Given the description of an element on the screen output the (x, y) to click on. 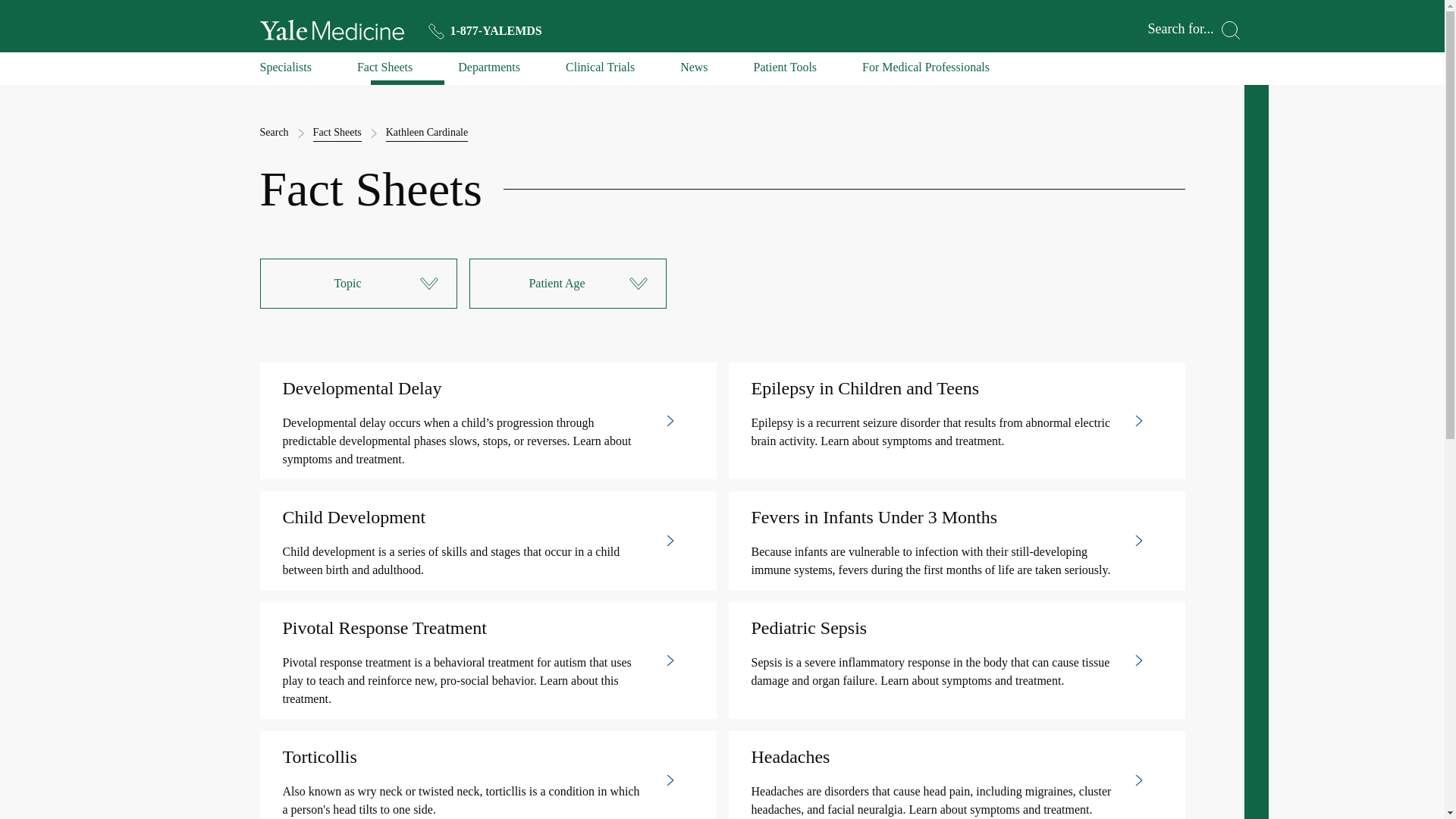
Topic (358, 283)
Fact Sheets (337, 133)
News (693, 71)
Specialists (285, 71)
Clinical Trials (600, 71)
Patient Age (566, 283)
Departments (488, 71)
